Given the description of an element on the screen output the (x, y) to click on. 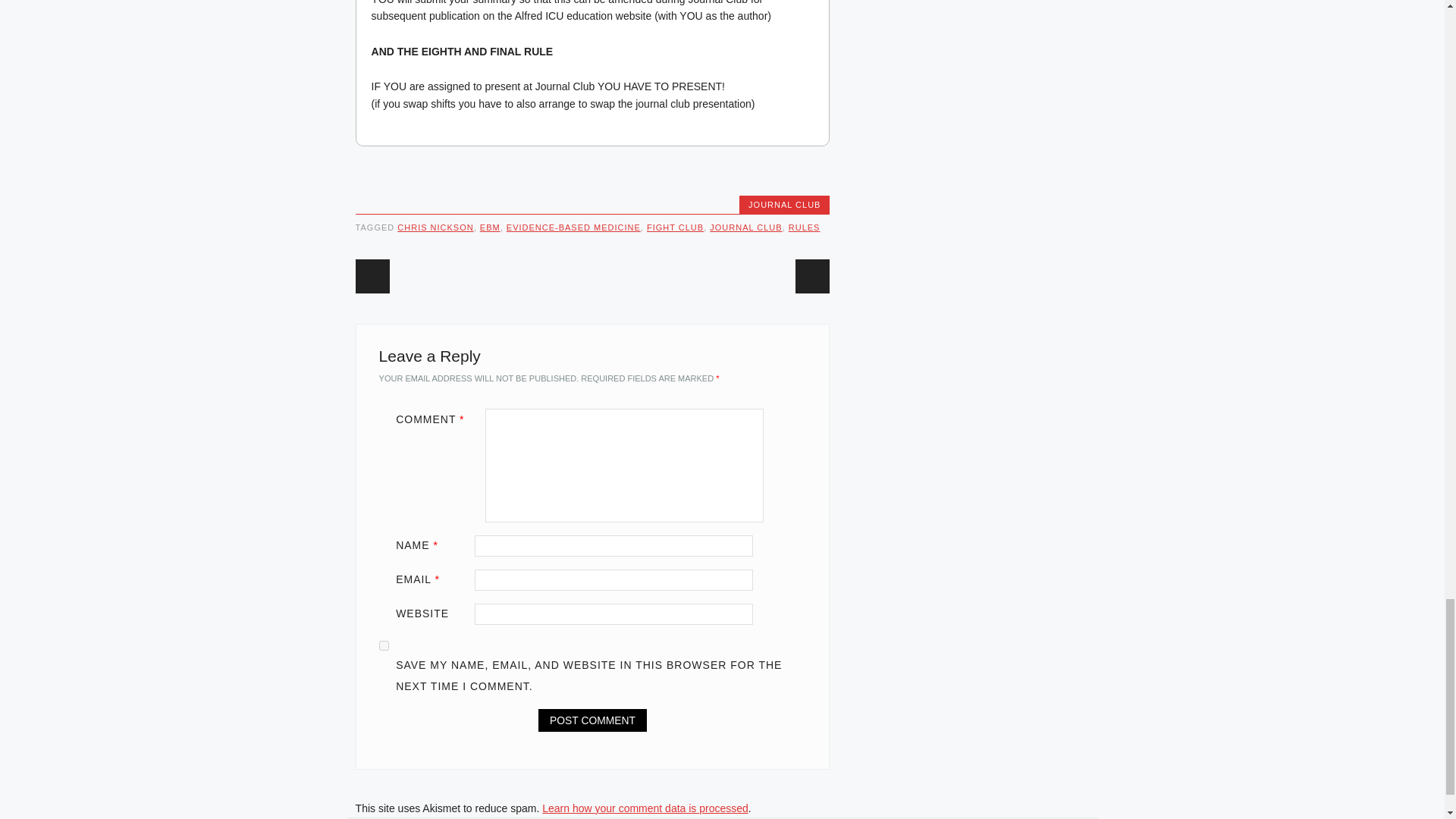
Post Comment (592, 720)
EBM (490, 226)
FIGHT CLUB (674, 226)
Post Comment (592, 720)
JOURNAL CLUB (784, 204)
yes (383, 645)
Learn how your comment data is processed (644, 808)
JOURNAL CLUB (745, 226)
EVIDENCE-BASED MEDICINE (573, 226)
RULES (805, 226)
